Given the description of an element on the screen output the (x, y) to click on. 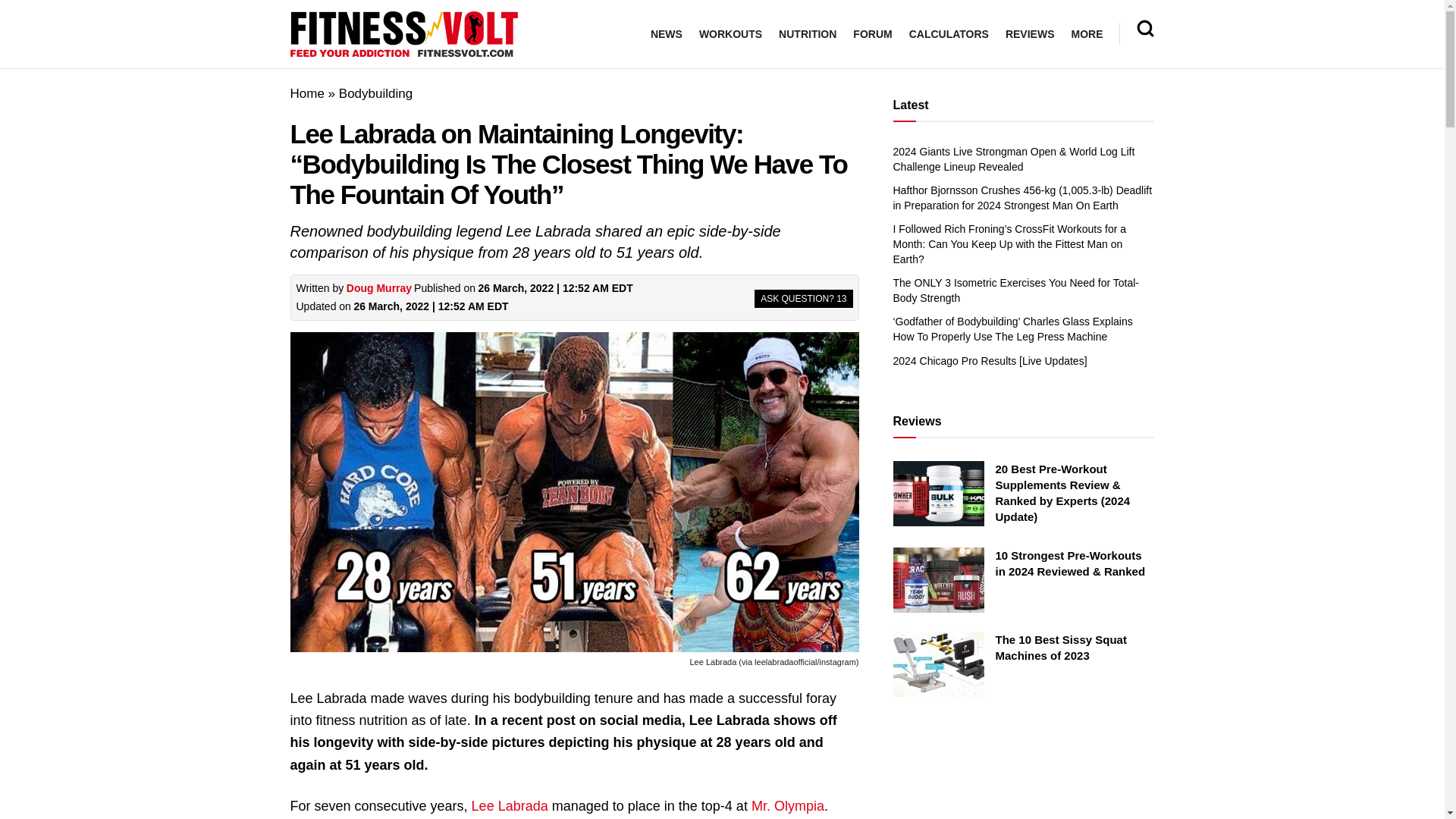
NUTRITION (806, 34)
WORKOUTS (729, 34)
FORUM (872, 34)
MORE (1086, 34)
NEWS (666, 34)
CALCULATORS (948, 34)
REVIEWS (1030, 34)
